Given the description of an element on the screen output the (x, y) to click on. 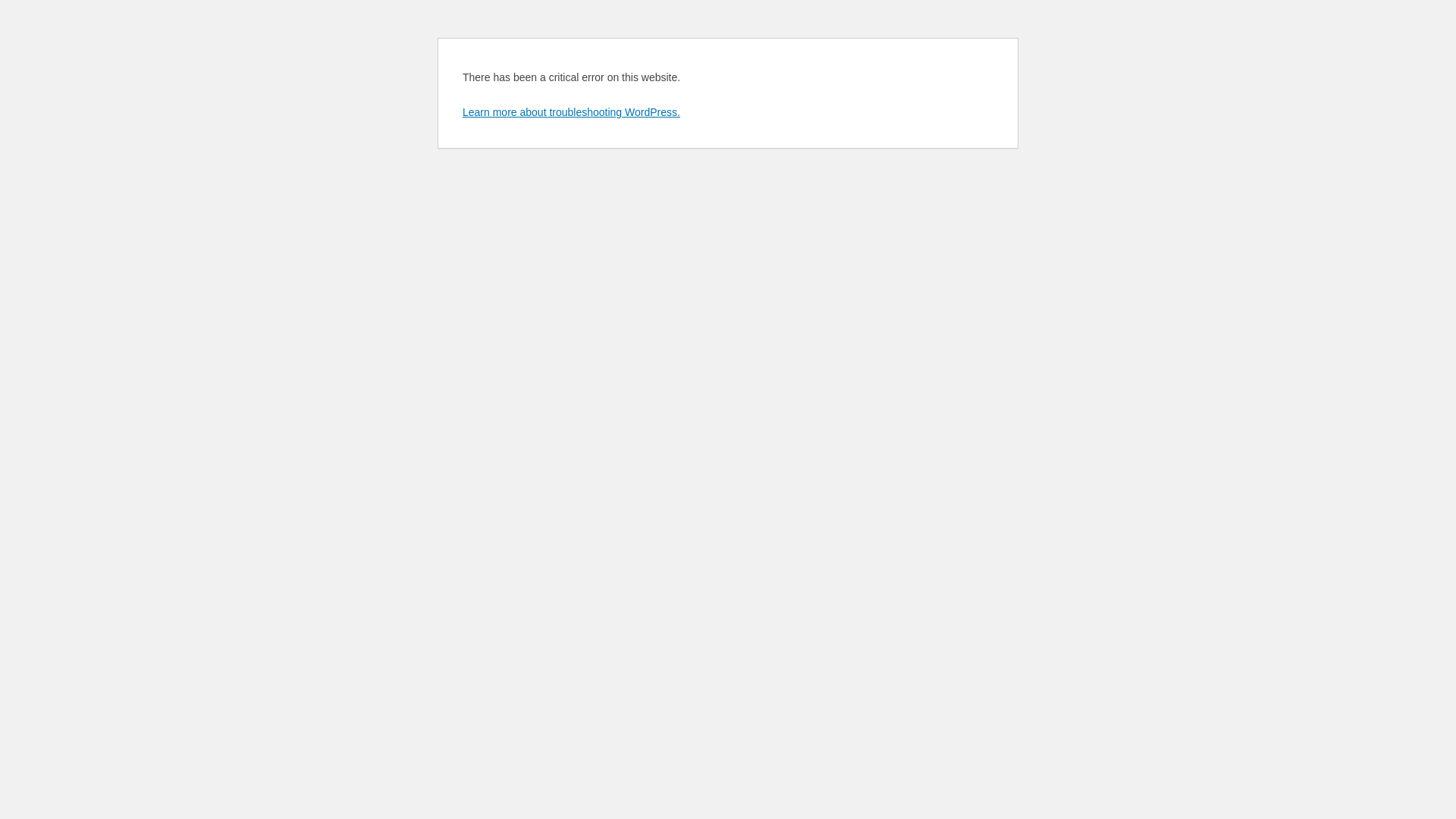
Learn more about troubleshooting WordPress. Element type: text (571, 112)
